Given the description of an element on the screen output the (x, y) to click on. 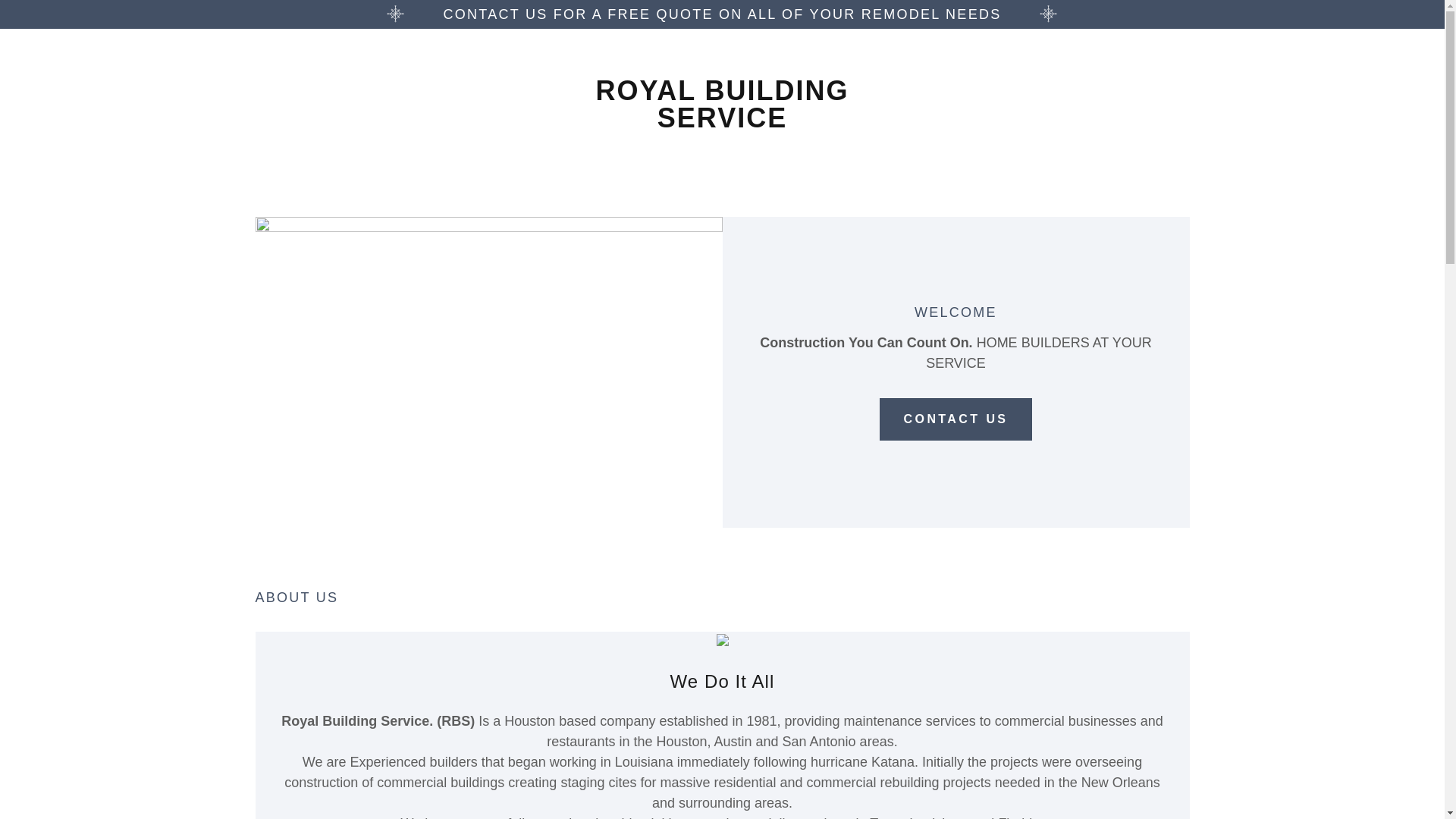
Royal Building Service (721, 122)
CONTACT US (955, 419)
ROYAL BUILDING SERVICE (721, 122)
